Given the description of an element on the screen output the (x, y) to click on. 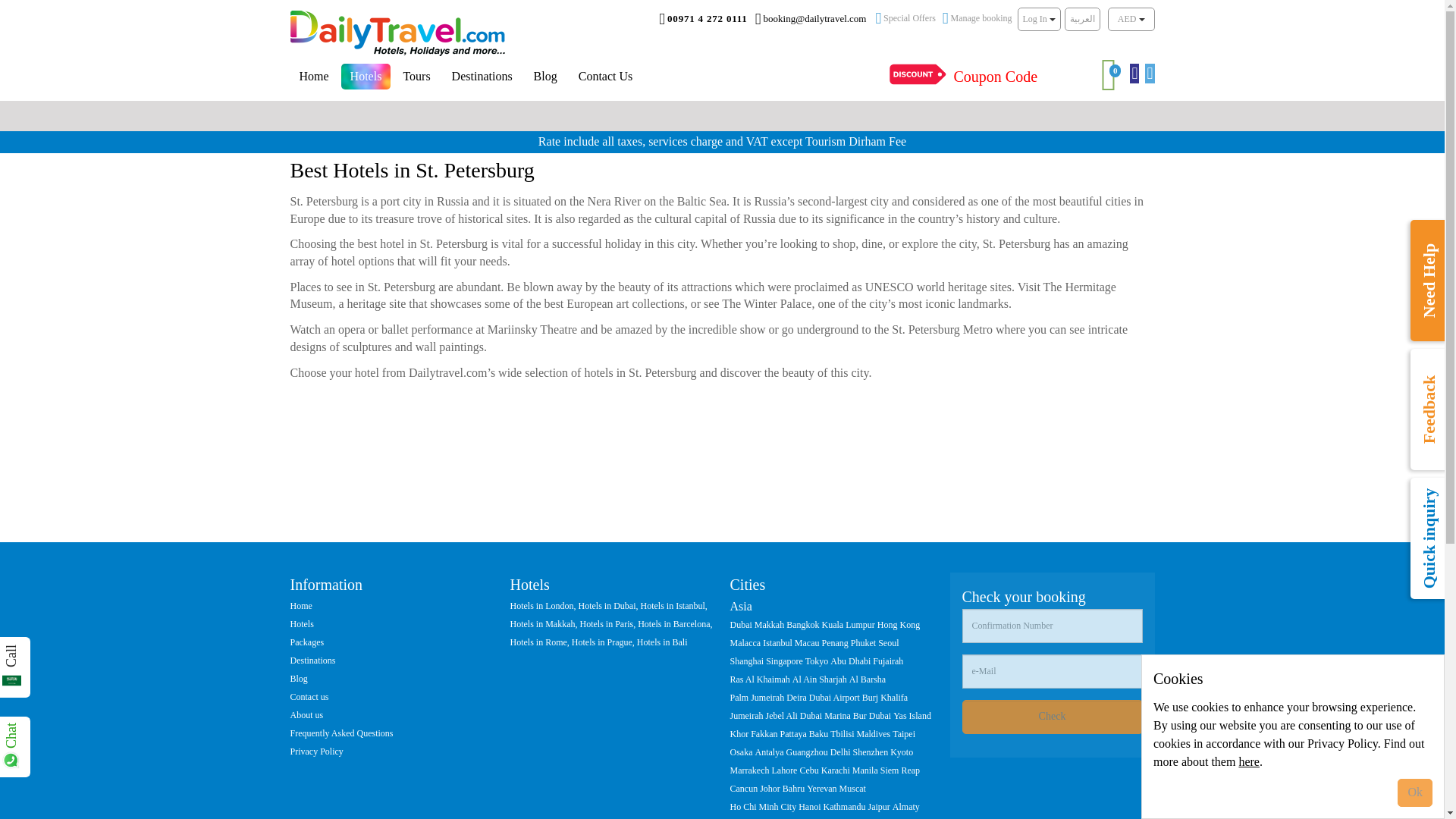
AED (1131, 19)
Tours (416, 76)
Twitter (1146, 73)
Home (313, 76)
Blog (1110, 74)
Destinations (545, 76)
Home (481, 76)
Facebook (396, 31)
Coupon Code (904, 18)
Log In (1131, 73)
Contact Us (1025, 77)
